Given the description of an element on the screen output the (x, y) to click on. 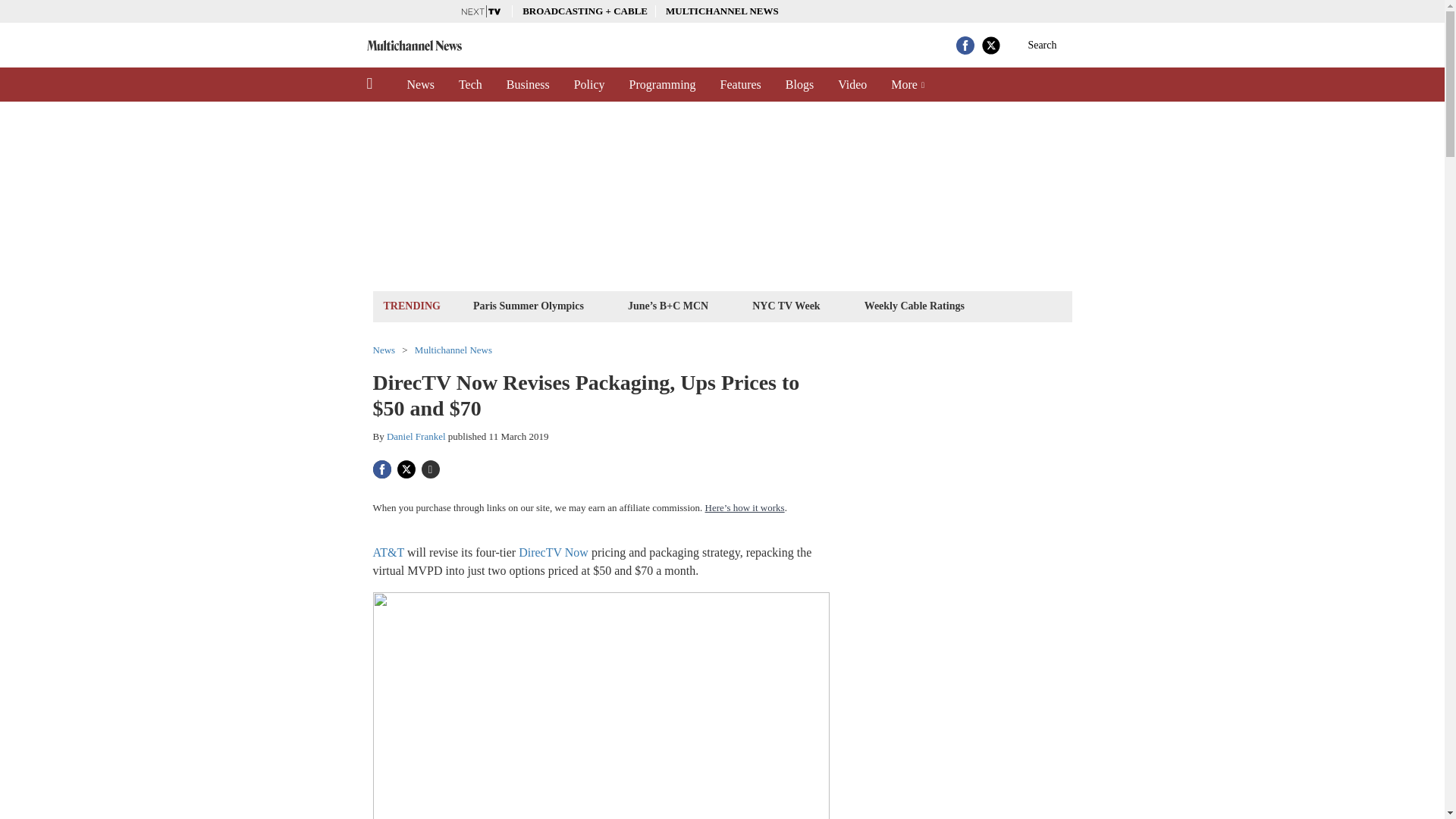
Programming (662, 84)
NYC TV Week (785, 305)
Multichannel News (453, 349)
Weekly Cable Ratings (914, 305)
Policy (589, 84)
Blogs (799, 84)
Features (740, 84)
Tech (470, 84)
Video (852, 84)
Business (528, 84)
